Given the description of an element on the screen output the (x, y) to click on. 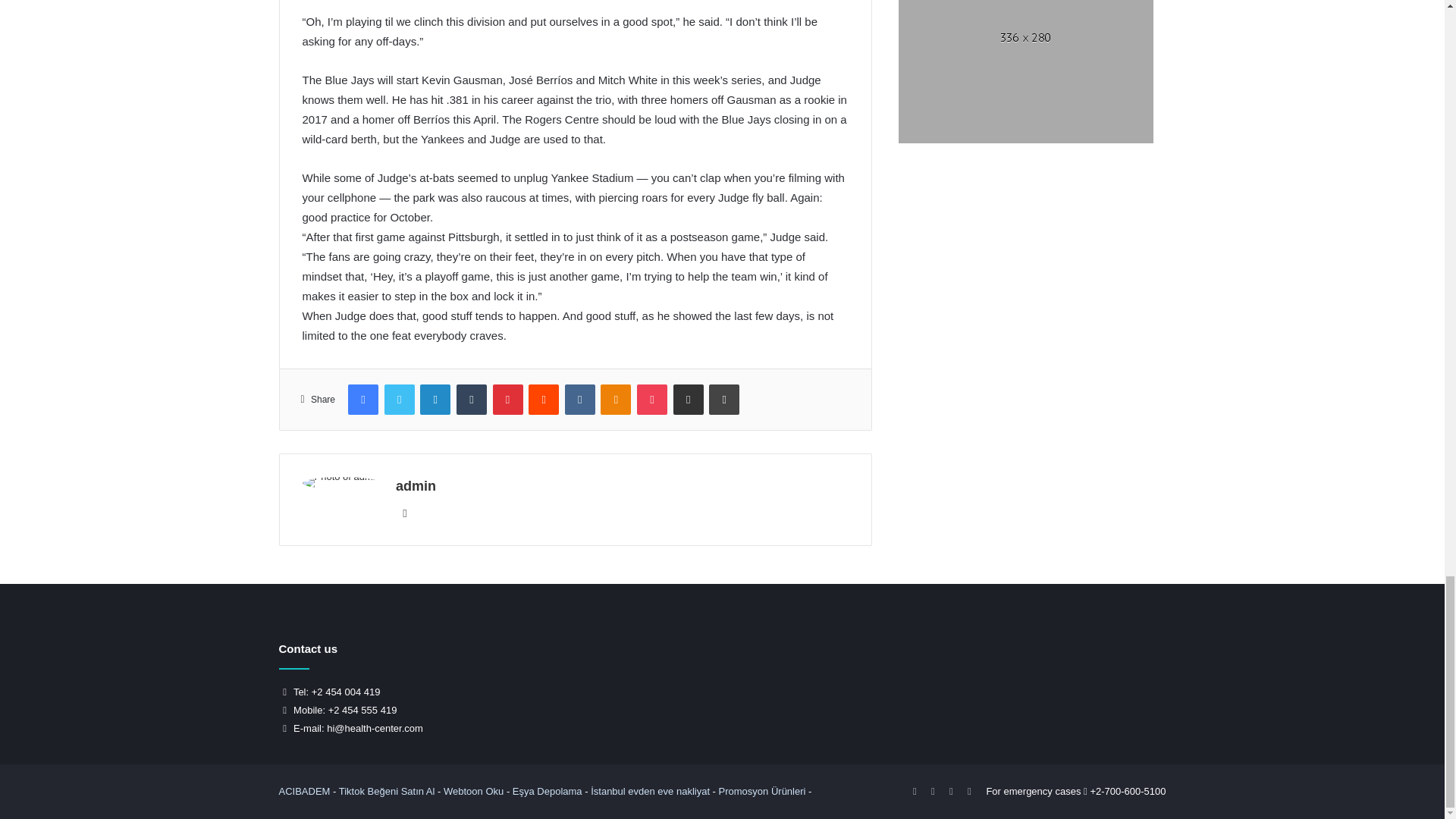
VKontakte (579, 399)
Twitter (399, 399)
LinkedIn (434, 399)
Odnoklassniki (614, 399)
Tumblr (471, 399)
Facebook (362, 399)
Reddit (543, 399)
Pinterest (507, 399)
